Given the description of an element on the screen output the (x, y) to click on. 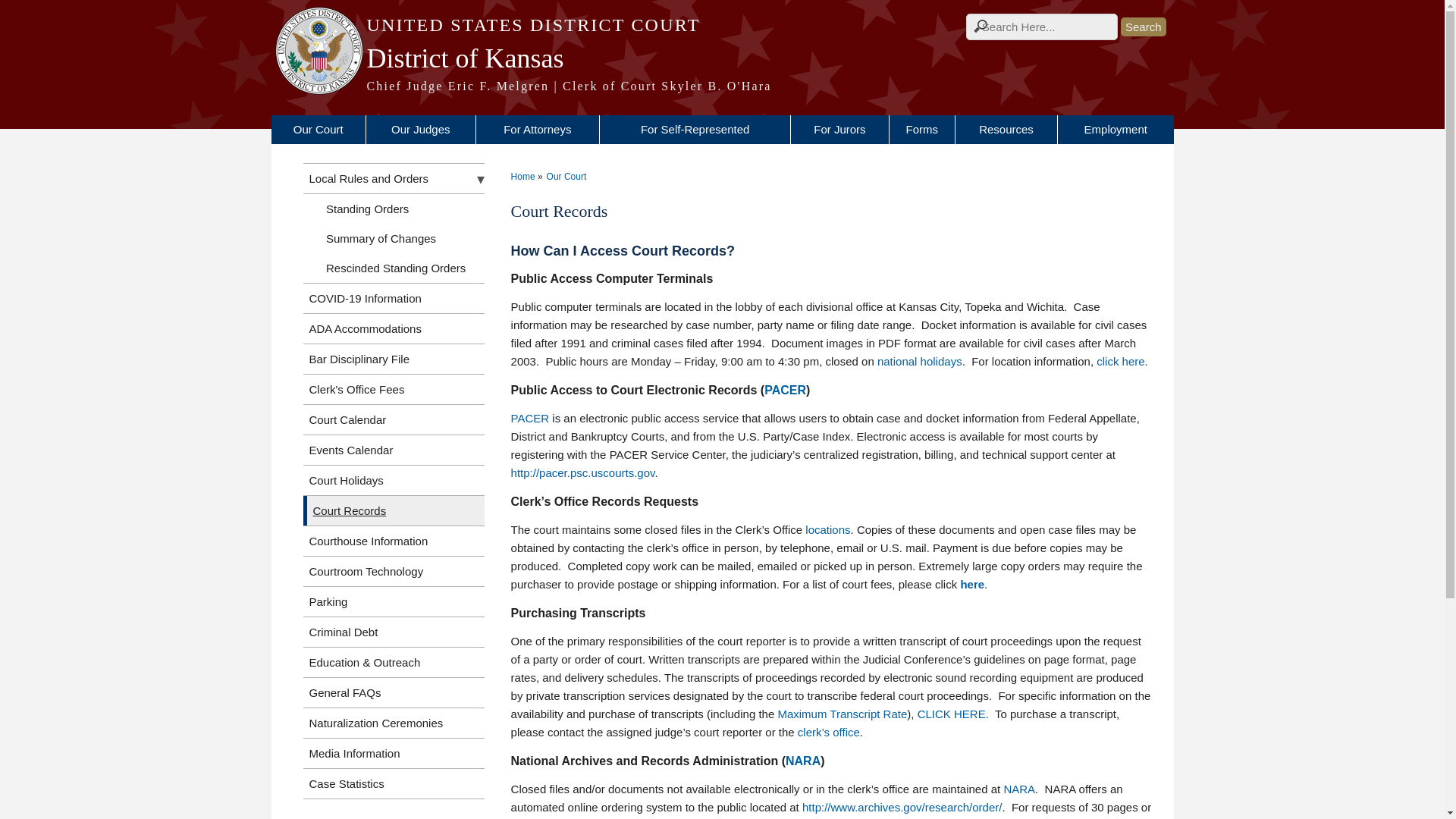
Courthouse Information (1118, 360)
Courthouse Information (828, 731)
Home (721, 57)
Home (721, 25)
Public Access to Court Electronic Records (530, 418)
Search (1143, 26)
Home (721, 86)
UNITED STATES DISTRICT COURT (721, 25)
Enter the terms you wish to search for. (1042, 26)
Public Access to Court Electronic Records (785, 390)
Courthouse Information (827, 529)
Our Judges (421, 129)
National Archives and Records Administration (1019, 788)
Search (1143, 26)
